Given the description of an element on the screen output the (x, y) to click on. 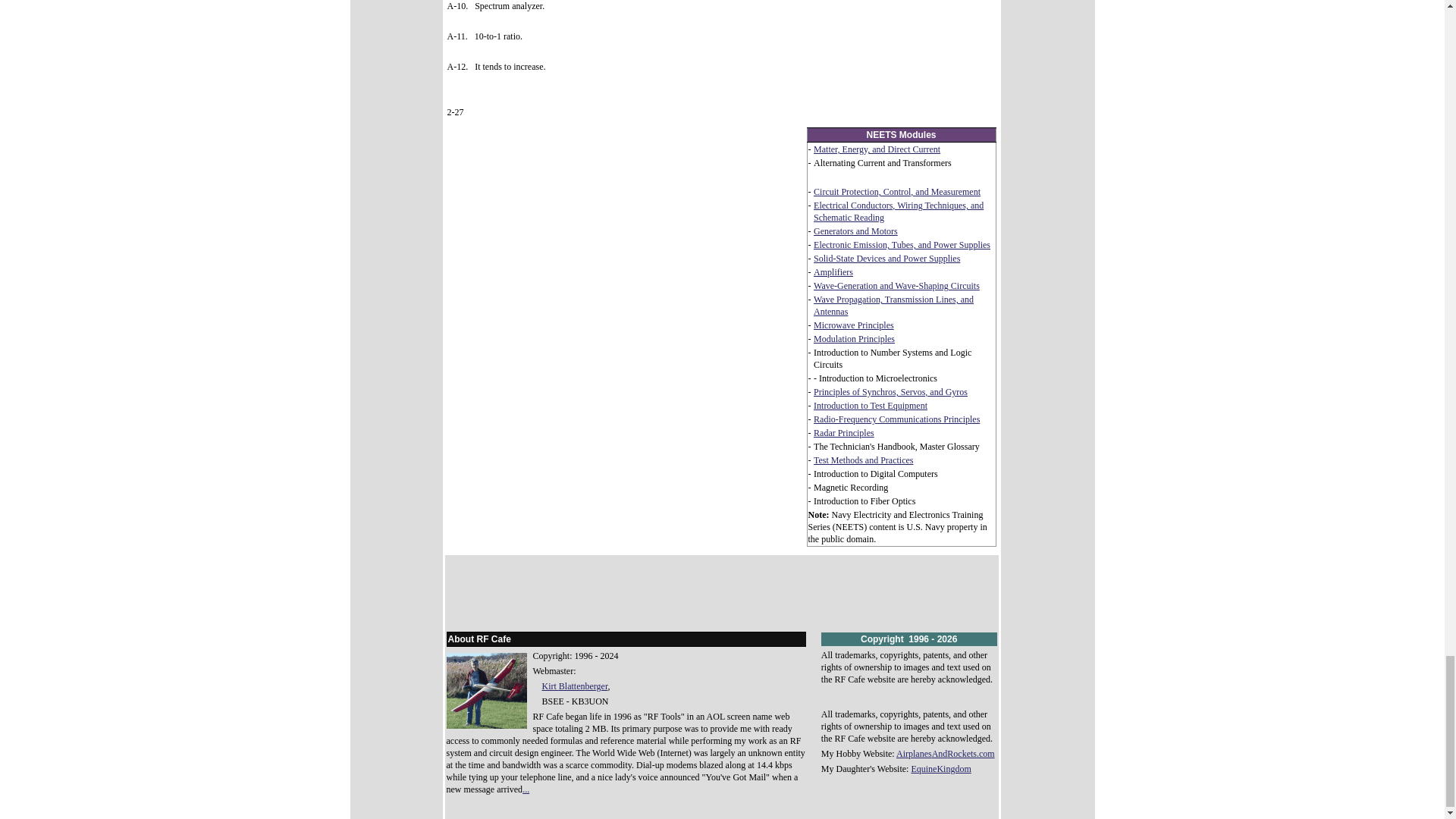
Generators and Motors (855, 231)
Electronic Emission, Tubes, and Power Supplies (901, 244)
Matter, Energy, and Direct Current (876, 149)
Circuit Protection, Control, and Measurement (896, 191)
